Given the description of an element on the screen output the (x, y) to click on. 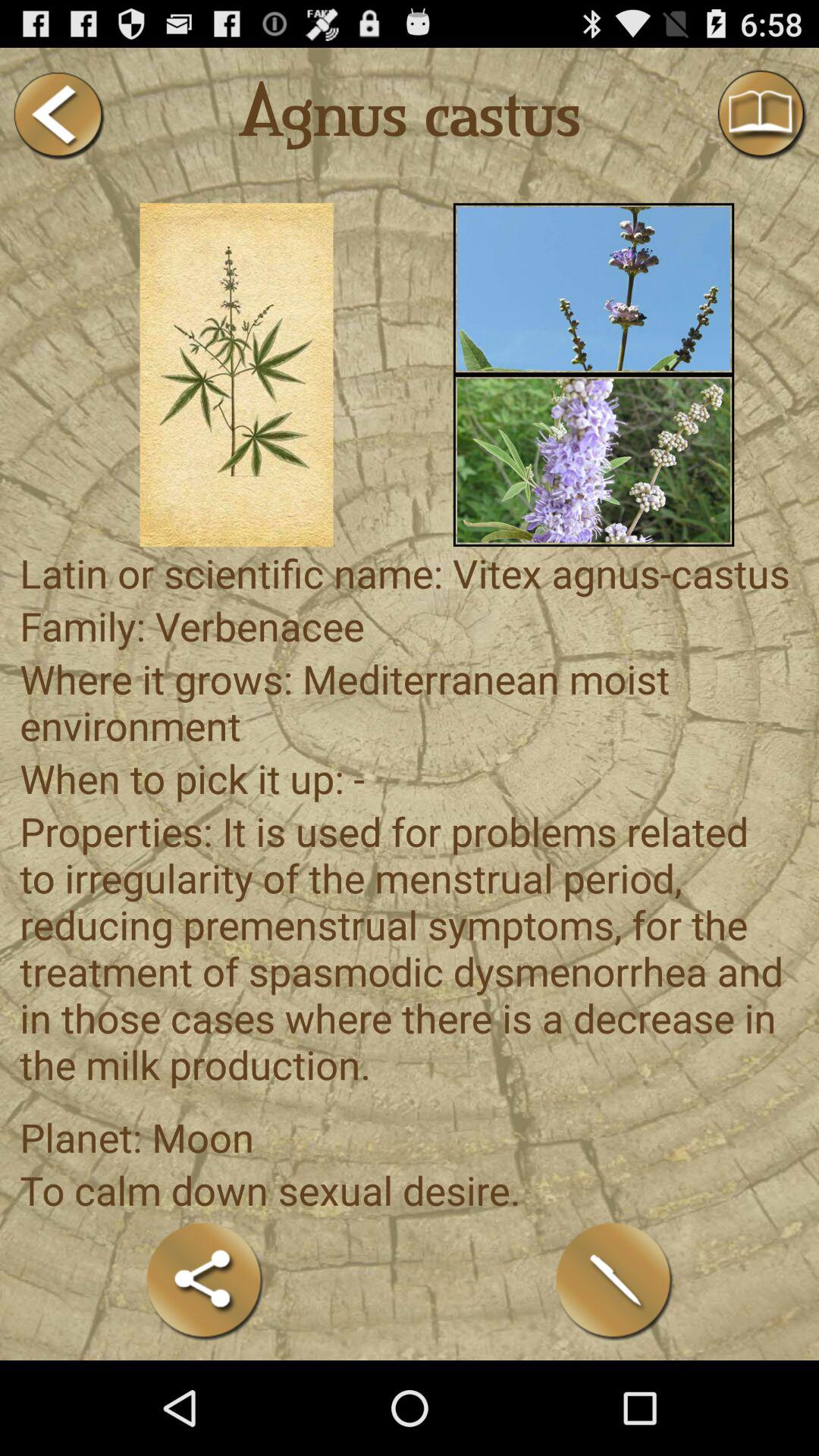
view picture (593, 288)
